Given the description of an element on the screen output the (x, y) to click on. 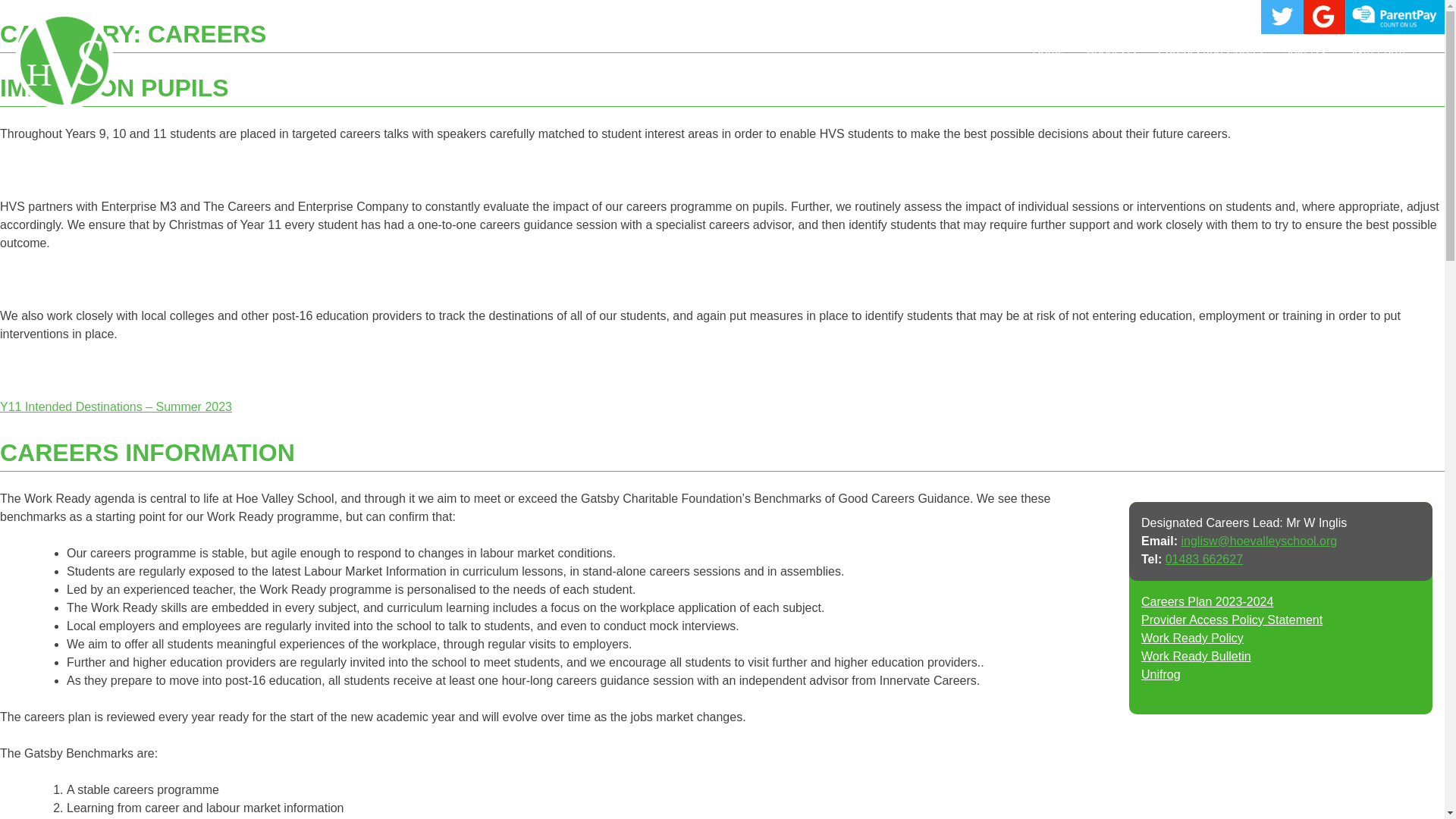
Home (1048, 51)
Parents and Carers (1210, 51)
Join Us (1304, 51)
About Us (1110, 51)
